Given the description of an element on the screen output the (x, y) to click on. 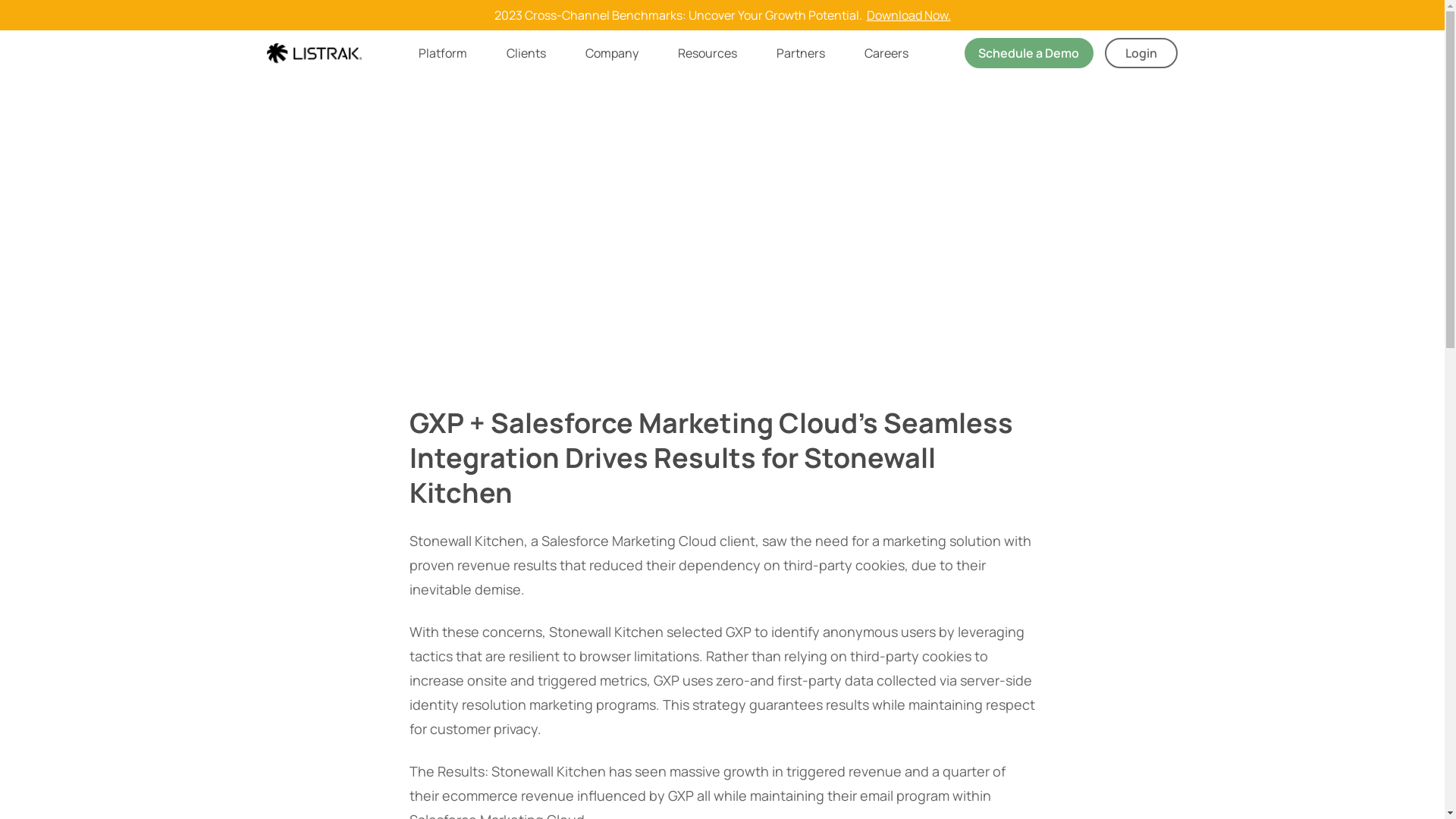
Resources Element type: text (707, 53)
Clients Element type: text (526, 53)
Company Element type: text (611, 53)
Partners Element type: text (800, 53)
Login Element type: text (1140, 52)
Careers Element type: text (886, 53)
Schedule a Demo Element type: text (1028, 52)
Platform Element type: text (442, 53)
